Given the description of an element on the screen output the (x, y) to click on. 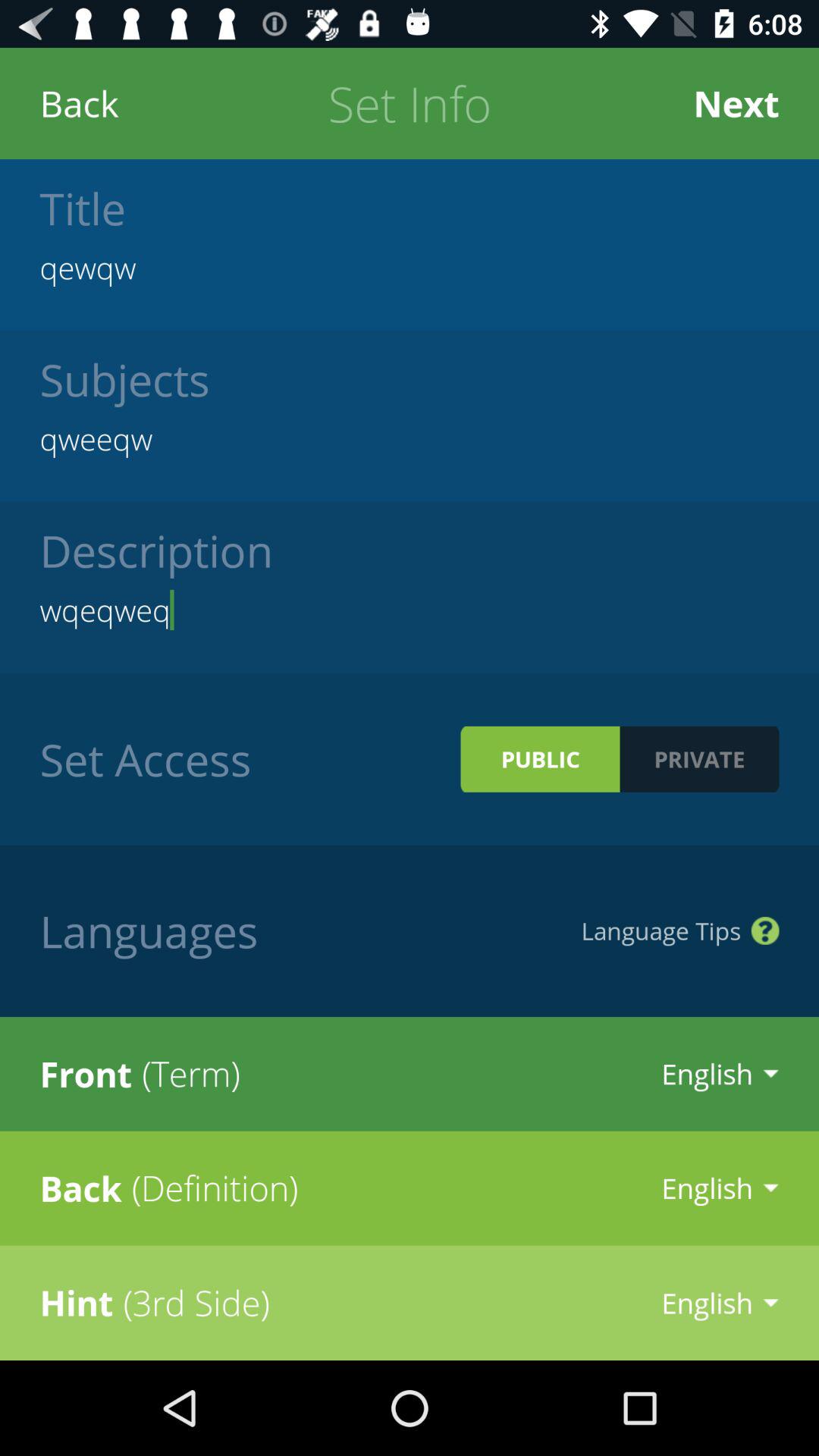
select the button next which is to the right side of set info (736, 103)
